Given the description of an element on the screen output the (x, y) to click on. 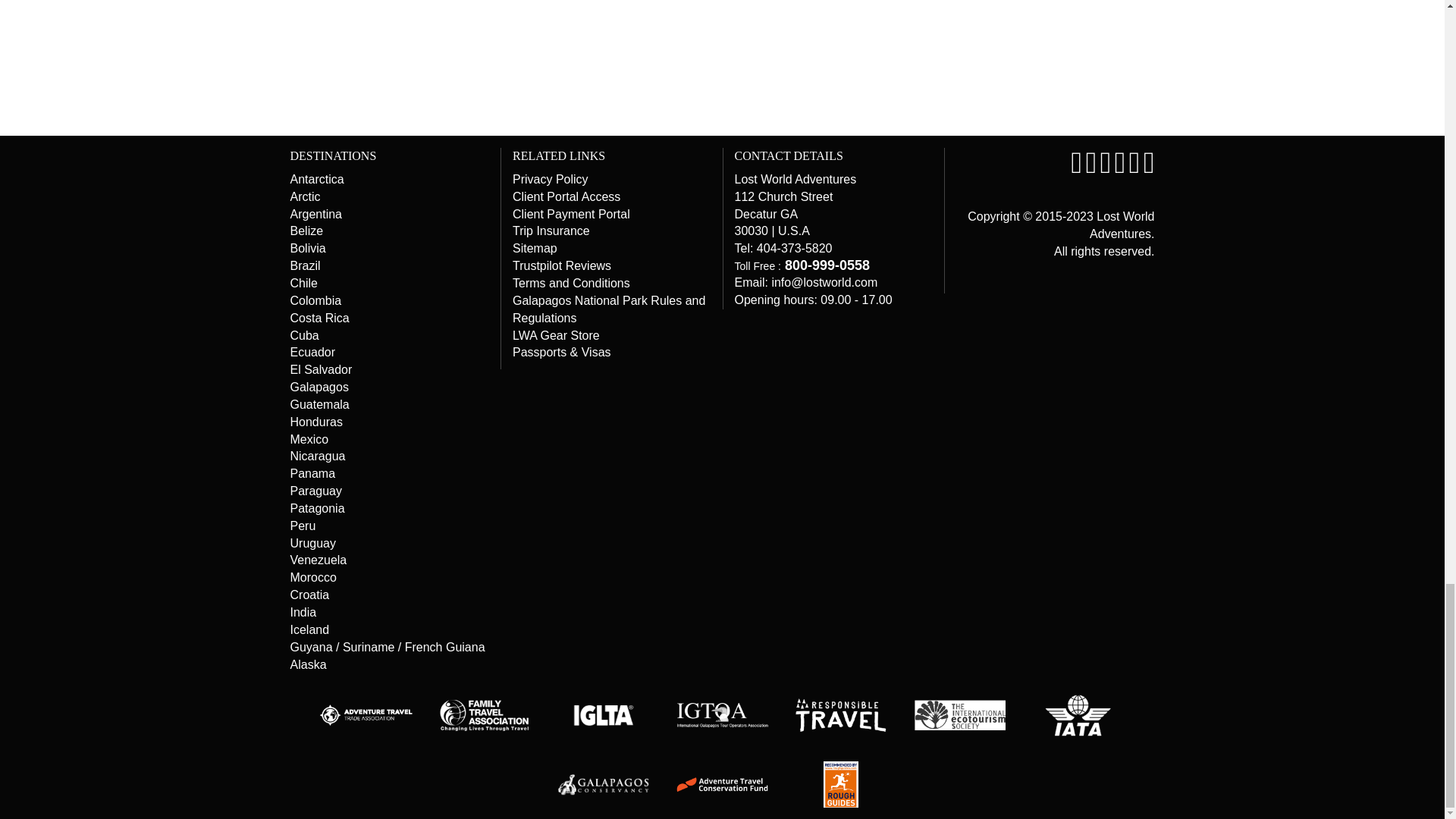
Form 0 (1002, 65)
